Given the description of an element on the screen output the (x, y) to click on. 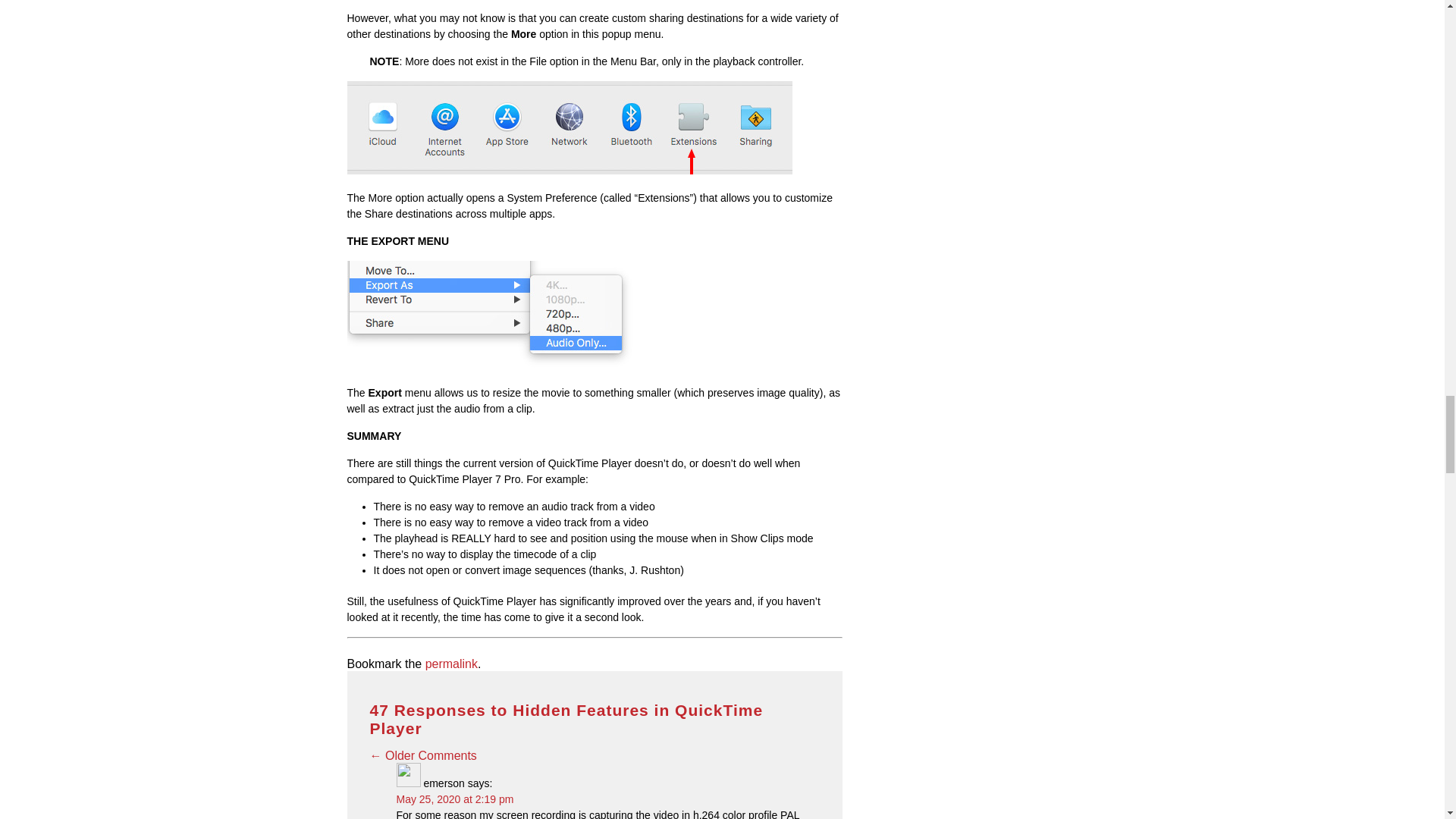
Permalink to Hidden Features in QuickTime Player (451, 663)
permalink (451, 663)
May 25, 2020 at 2:19 pm (454, 799)
